Given the description of an element on the screen output the (x, y) to click on. 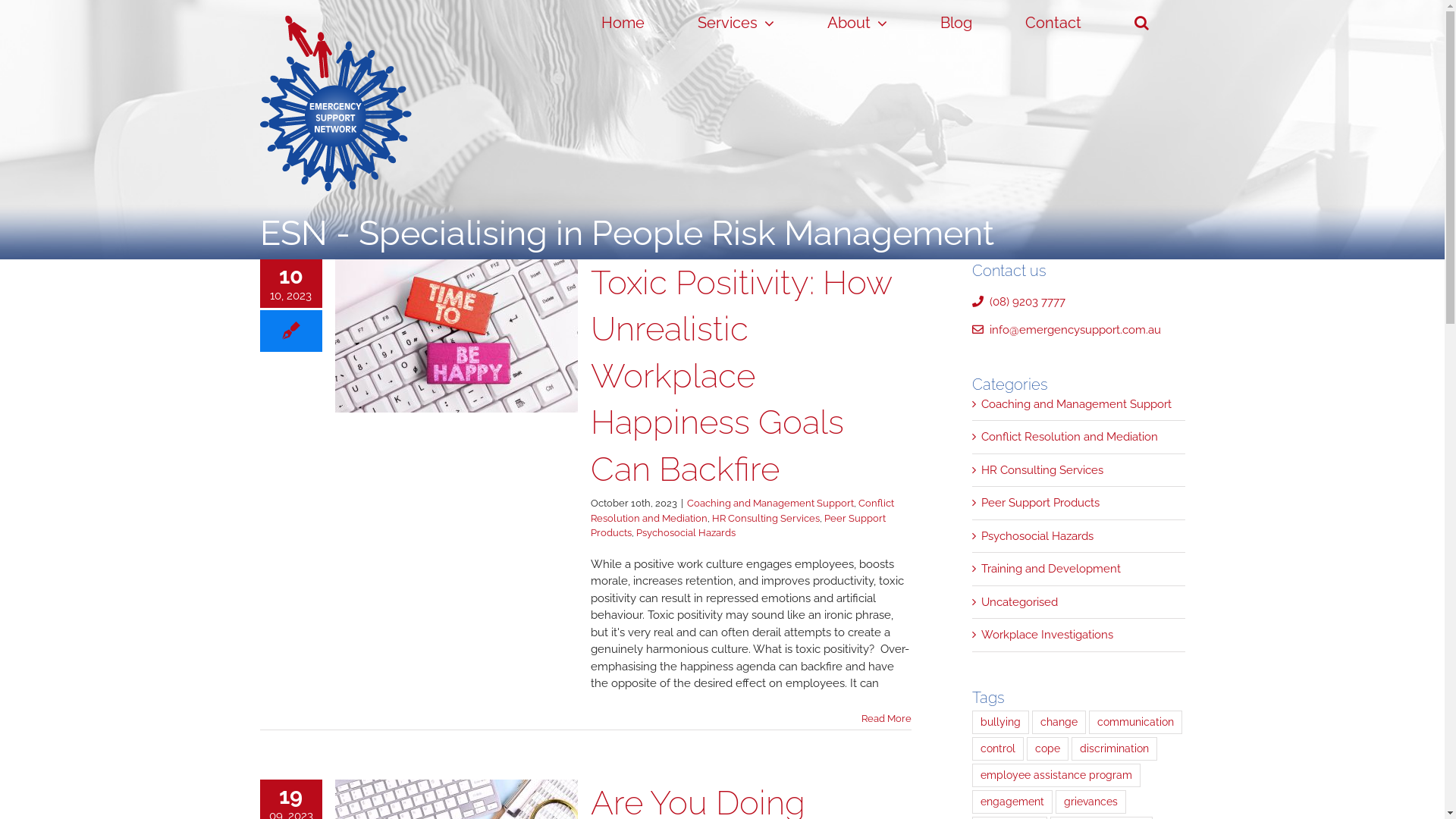
bullying Element type: text (1000, 721)
Coaching and Management Support Element type: text (1079, 404)
engagement Element type: text (1012, 801)
Training and Development Element type: text (1079, 568)
change Element type: text (1058, 721)
HR Consulting Services Element type: text (765, 518)
Conflict Resolution and Mediation Element type: text (1079, 436)
Blog Element type: text (956, 22)
Coaching and Management Support Element type: text (770, 502)
Services Element type: text (735, 22)
employee assistance program Element type: text (1056, 775)
grievances Element type: text (1090, 801)
  (08) 9203 7777 Element type: text (1018, 300)
Psychosocial Hazards Element type: text (1079, 536)
Peer Support Products Element type: text (736, 525)
Workplace Investigations Element type: text (1079, 634)
Peer Support Products Element type: text (1079, 502)
discrimination Element type: text (1114, 748)
cope Element type: text (1047, 748)
  info@emergencysupport.com.au Element type: text (1066, 329)
Search Element type: hover (1141, 22)
Conflict Resolution and Mediation Element type: text (741, 510)
Read More Element type: text (886, 718)
HR Consulting Services Element type: text (1079, 469)
Psychosocial Hazards Element type: text (684, 532)
Uncategorised Element type: text (1079, 601)
Home Element type: text (622, 22)
communication Element type: text (1135, 721)
About Element type: text (856, 22)
Contact Element type: text (1053, 22)
control Element type: text (997, 748)
